Given the description of an element on the screen output the (x, y) to click on. 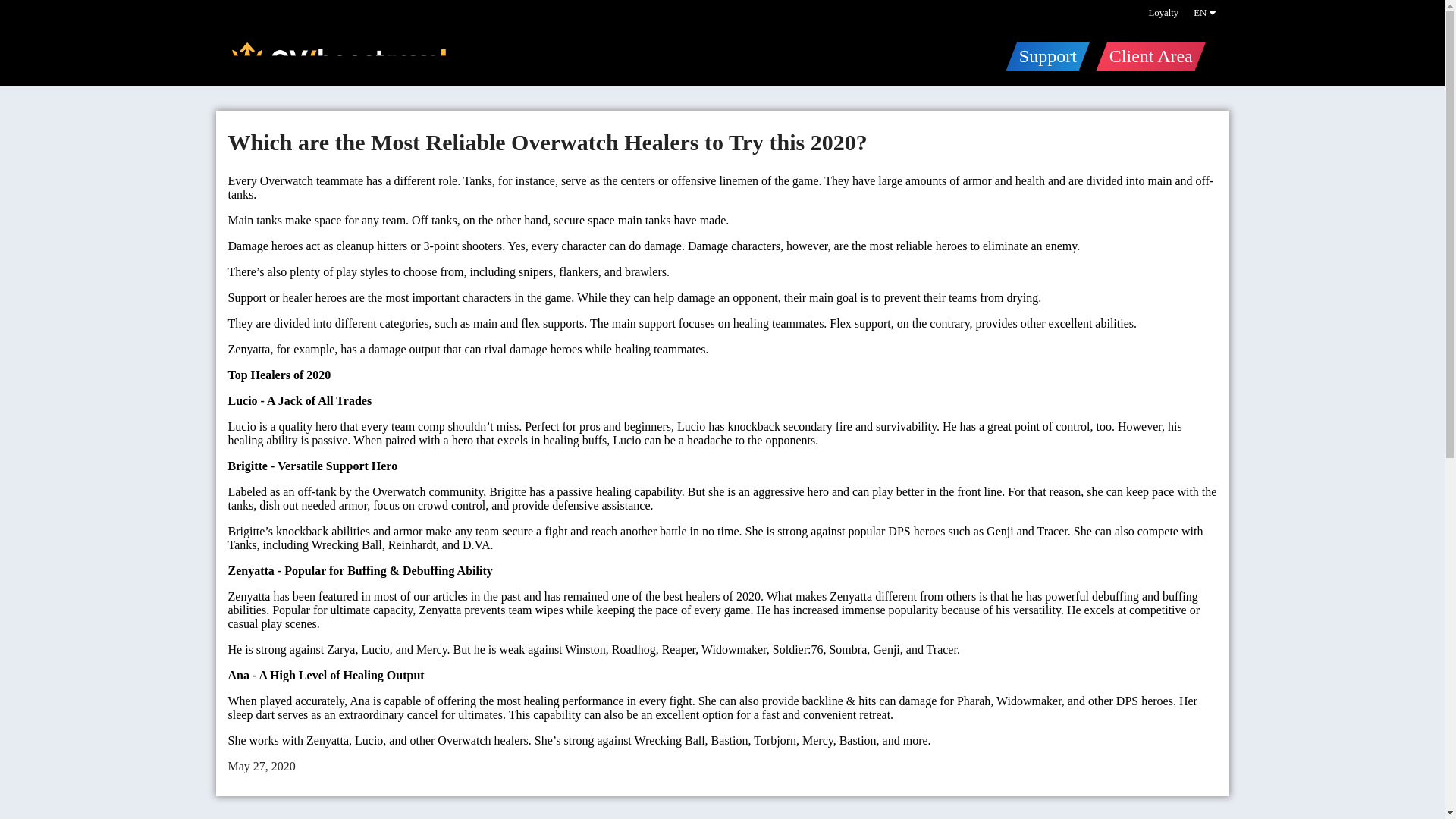
Overwatch boosting (337, 57)
Support (1042, 54)
Client Area (1144, 54)
Loyalty (1162, 12)
